Given the description of an element on the screen output the (x, y) to click on. 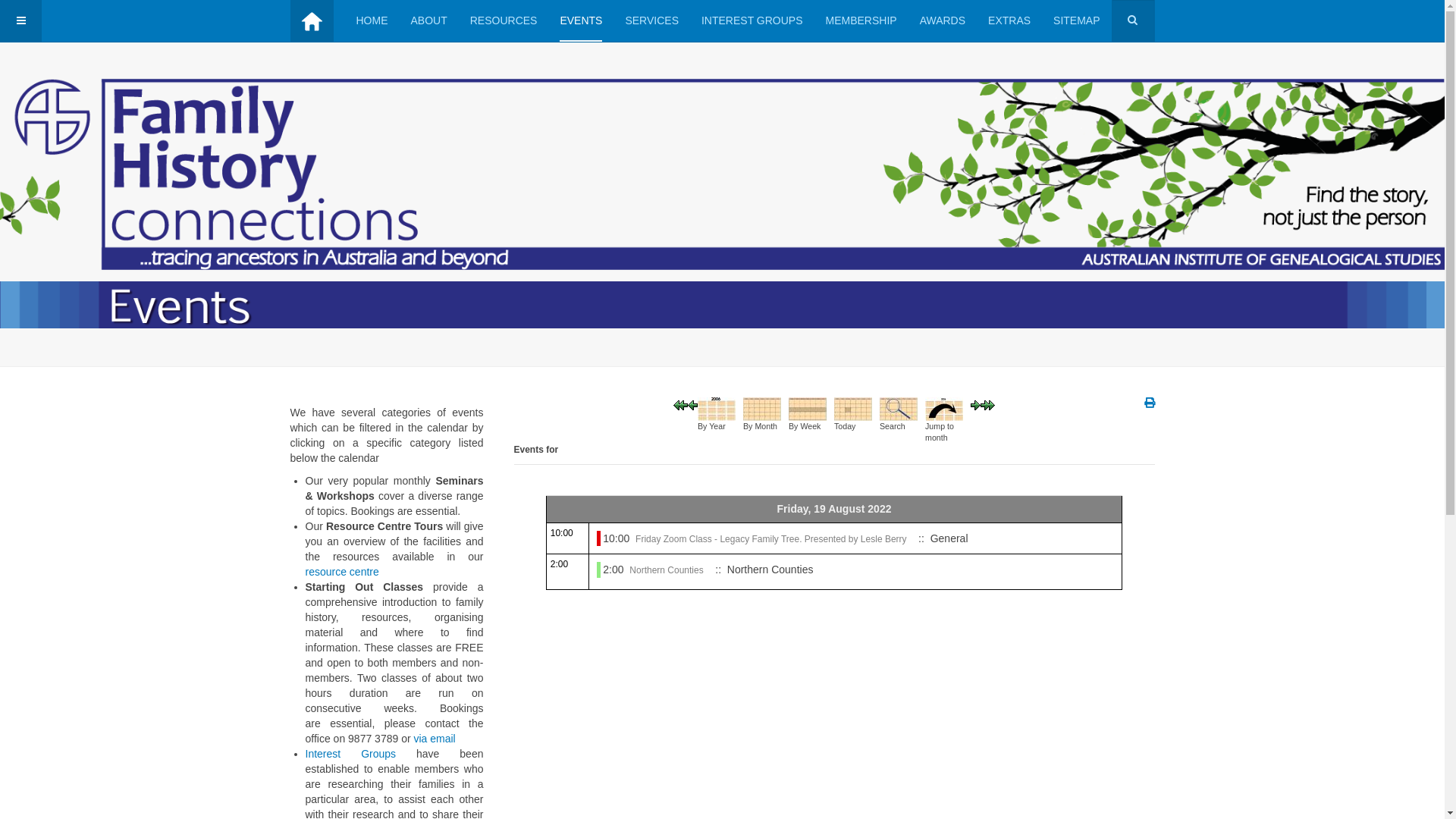
via email Element type: text (434, 738)
RESOURCES Element type: text (503, 20)
Northern Counties Element type: text (665, 569)
AWARDS Element type: text (942, 20)
EXTRAS Element type: text (1009, 20)
Next month Element type: hover (987, 404)
By Year Element type: hover (716, 407)
Print Element type: hover (1148, 402)
SITEMAP Element type: text (1076, 20)
HOME Element type: text (372, 20)
Search Element type: hover (898, 407)
ABOUT Element type: text (429, 20)
MEMBERSHIP Element type: text (861, 20)
Today Element type: hover (853, 407)
INTEREST GROUPS Element type: text (752, 20)
EVENTS Element type: text (580, 20)
resource centre Element type: text (341, 571)
Jump to month Element type: hover (944, 407)
SERVICES Element type: text (651, 20)
Previous day Element type: hover (692, 404)
Previous month Element type: hover (680, 404)
Interest Groups Element type: text (349, 753)
By Month Element type: hover (762, 407)
Family History Connections Element type: hover (310, 20)
By Week Element type: hover (807, 407)
Next day Element type: hover (975, 404)
